Given the description of an element on the screen output the (x, y) to click on. 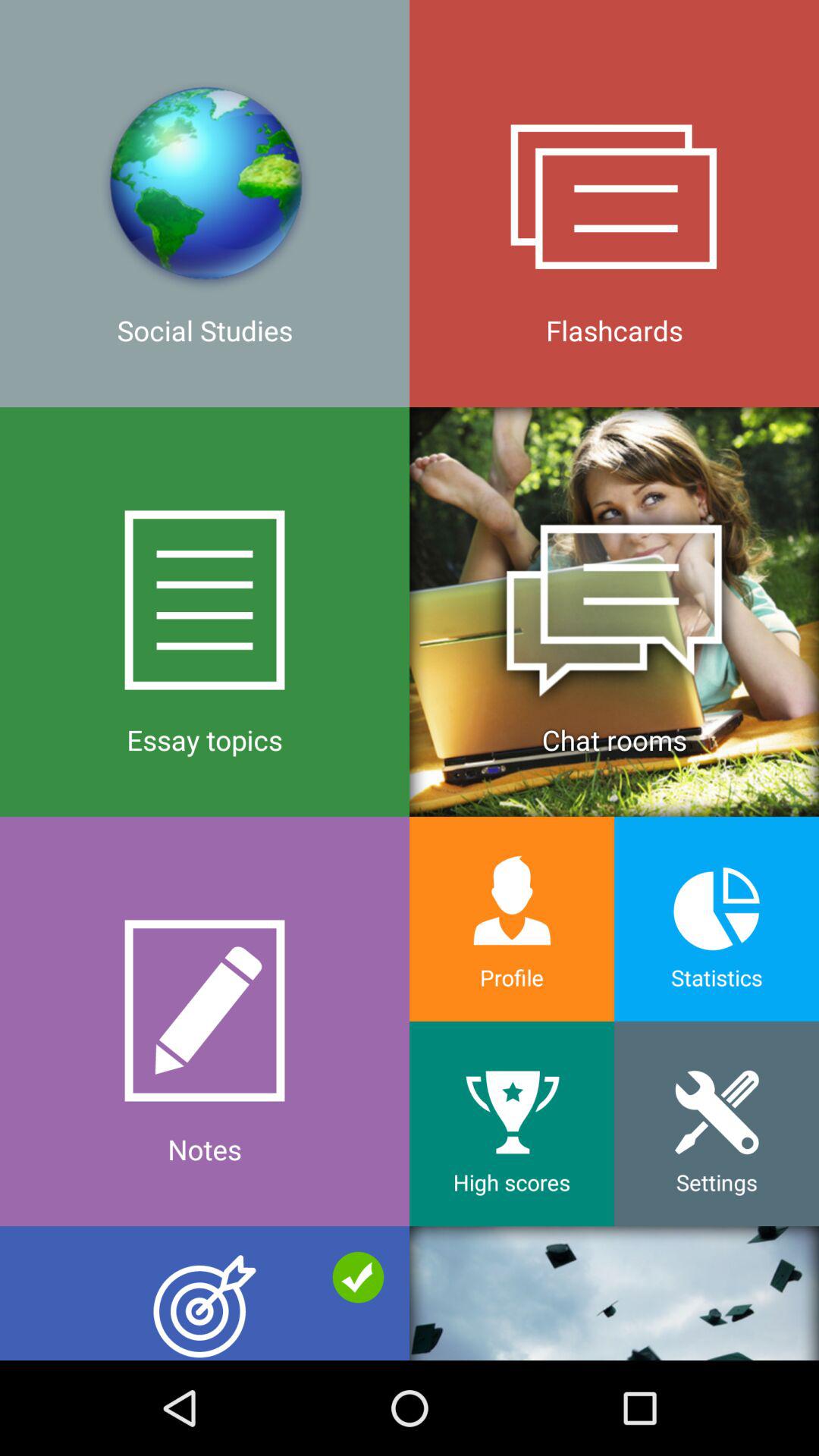
click the app next to the chat rooms icon (204, 1021)
